Given the description of an element on the screen output the (x, y) to click on. 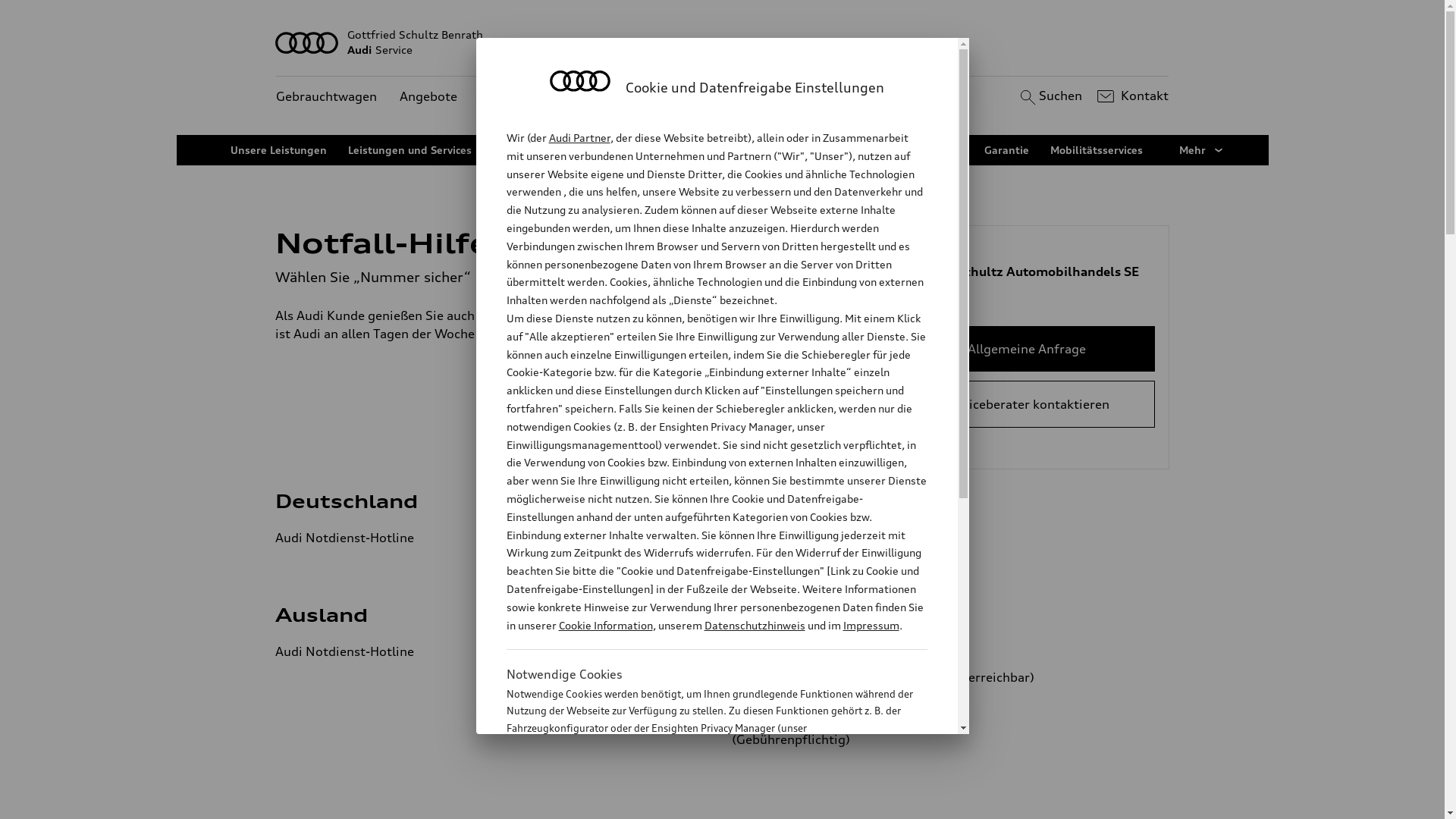
Allgemeine Anfrage Element type: text (1025, 348)
Kundenservice Element type: text (523, 96)
Datenschutzhinweis Element type: text (753, 624)
Serviceberater kontaktieren Element type: text (1025, 403)
Leistungen und Services Element type: text (409, 149)
Gebrauchtwagen Element type: text (326, 96)
Unsere Leistungen Element type: text (278, 149)
Cookie Information Element type: text (700, 802)
Ihre Ansprechpartner Element type: text (806, 149)
Gottfried Schultz Benrath
AudiService Element type: text (722, 42)
Reparatur und Wartung Element type: text (554, 149)
Angebote Element type: text (428, 96)
Garantie Element type: text (1006, 149)
Versicherungen Element type: text (922, 149)
Cookie Information Element type: text (605, 624)
Kontakt Element type: text (1130, 96)
Suchen Element type: text (1049, 96)
Mehr Element type: text (1201, 149)
Impressum Element type: text (871, 624)
Audi Partner Element type: text (579, 137)
